Given the description of an element on the screen output the (x, y) to click on. 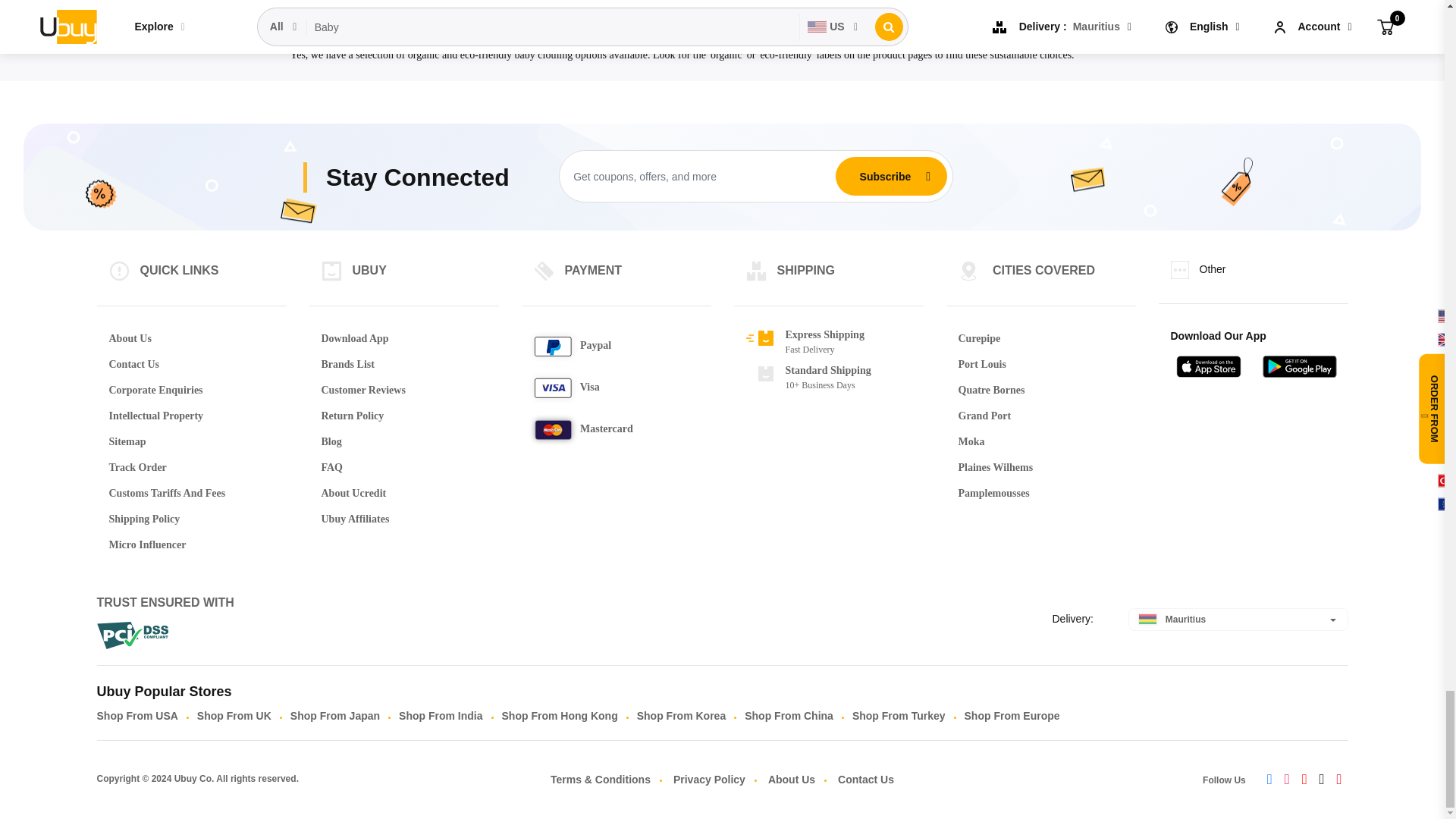
Subscribe (885, 175)
